Given the description of an element on the screen output the (x, y) to click on. 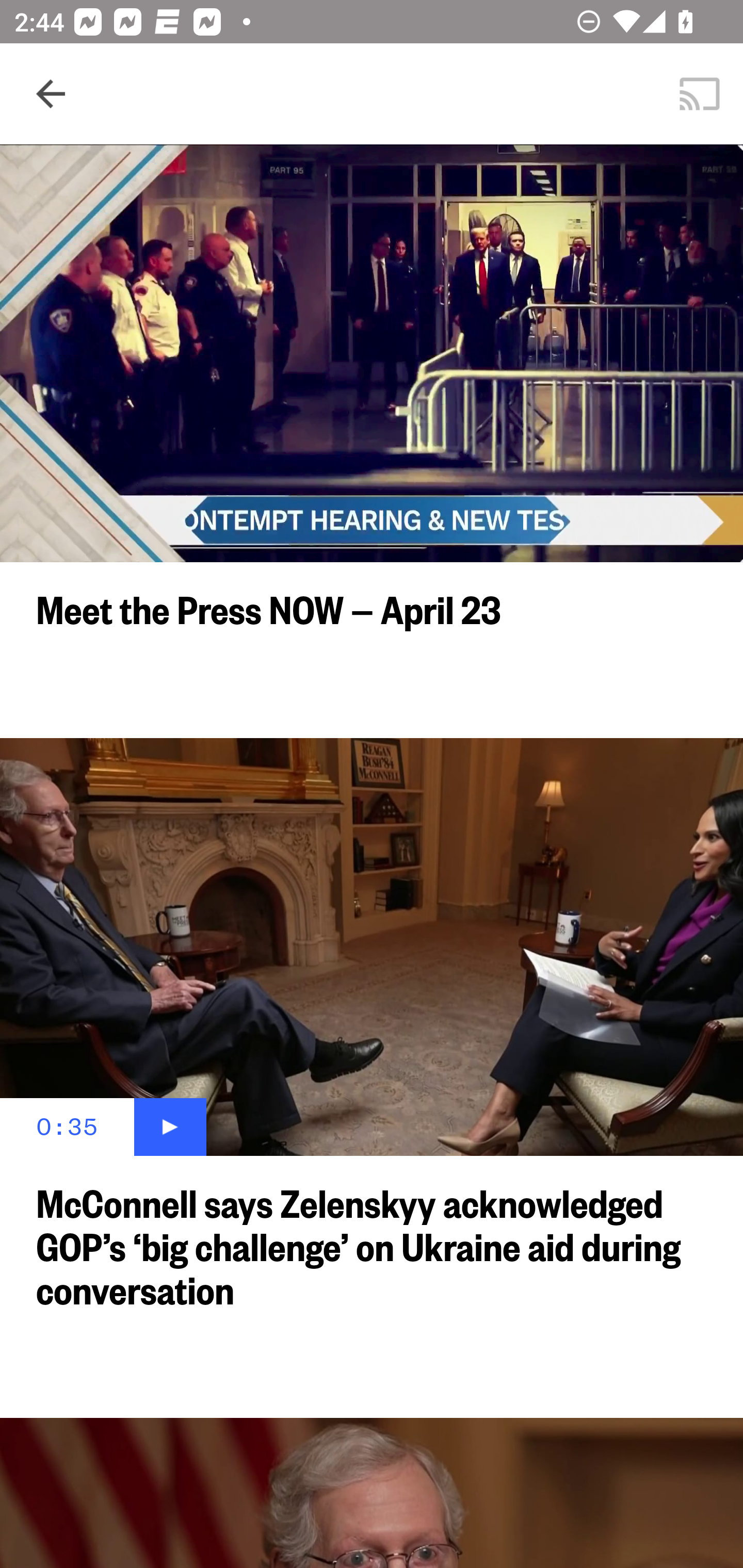
Navigate up (50, 93)
Cast. Disconnected (699, 93)
Video, Meet the Press NOW — April 23 (371, 353)
